Given the description of an element on the screen output the (x, y) to click on. 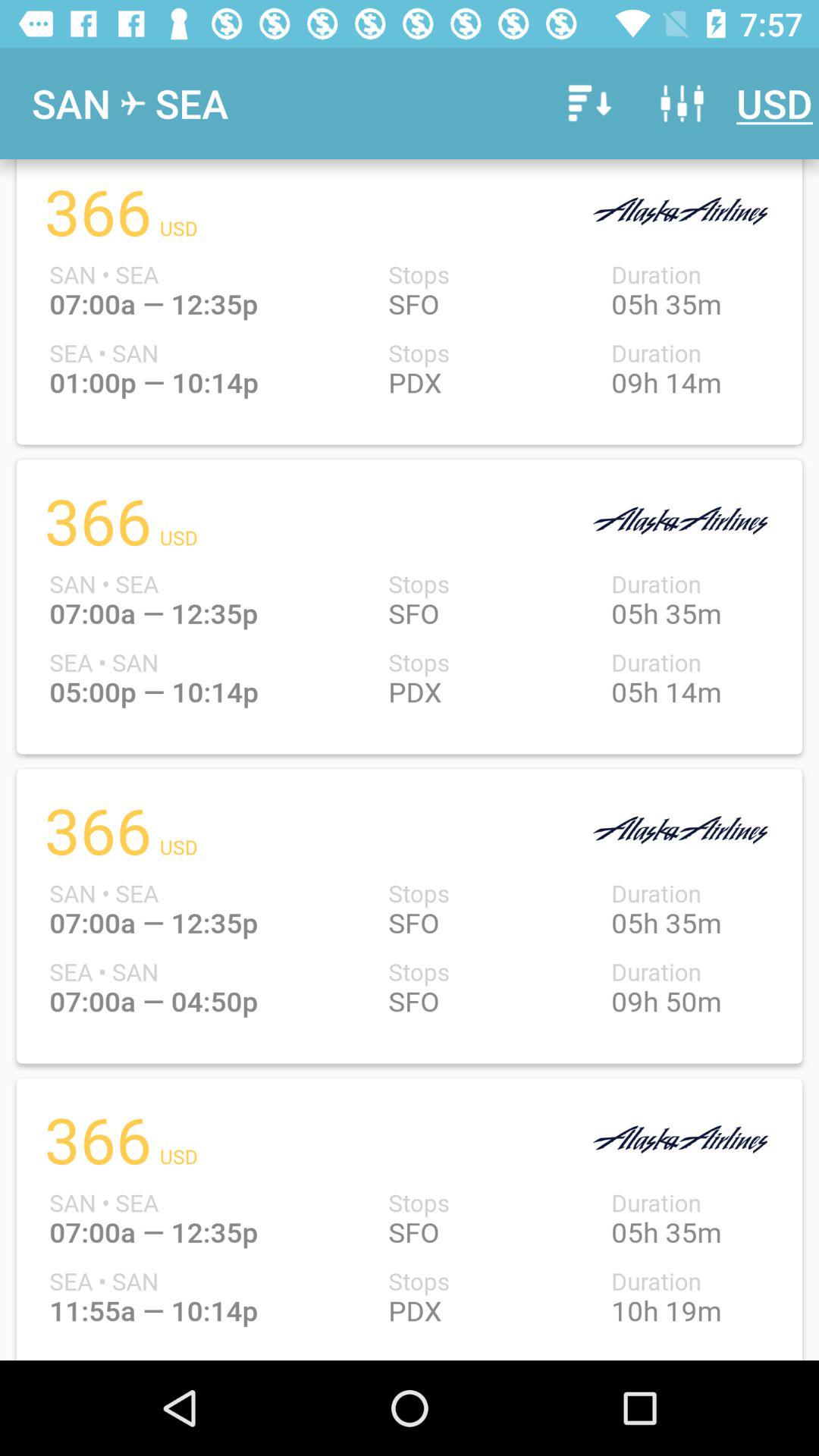
open the icon next to the sea item (586, 103)
